Given the description of an element on the screen output the (x, y) to click on. 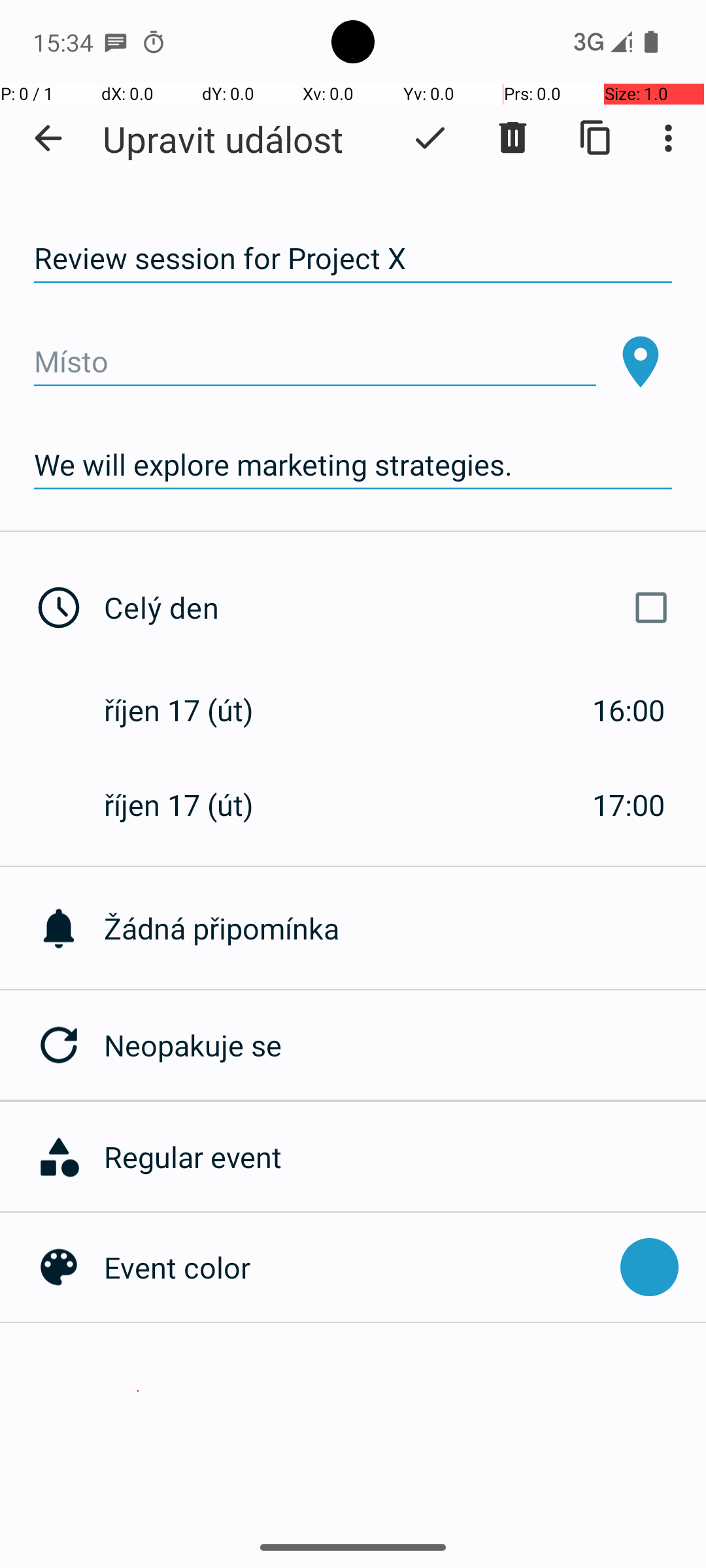
Upravit událost Element type: android.widget.TextView (222, 138)
Uložit Element type: android.widget.Button (429, 137)
Smazat Element type: android.widget.Button (512, 137)
Zkopírovat událost Element type: android.widget.Button (595, 137)
Místo Element type: android.widget.EditText (314, 361)
We will explore marketing strategies. Element type: android.widget.EditText (352, 465)
říjen 17 (út) Element type: android.widget.TextView (192, 709)
Žádná připomínka Element type: android.widget.TextView (404, 927)
Neopakuje se Element type: android.widget.TextView (404, 1044)
Celý den Element type: android.widget.CheckBox (390, 607)
